Given the description of an element on the screen output the (x, y) to click on. 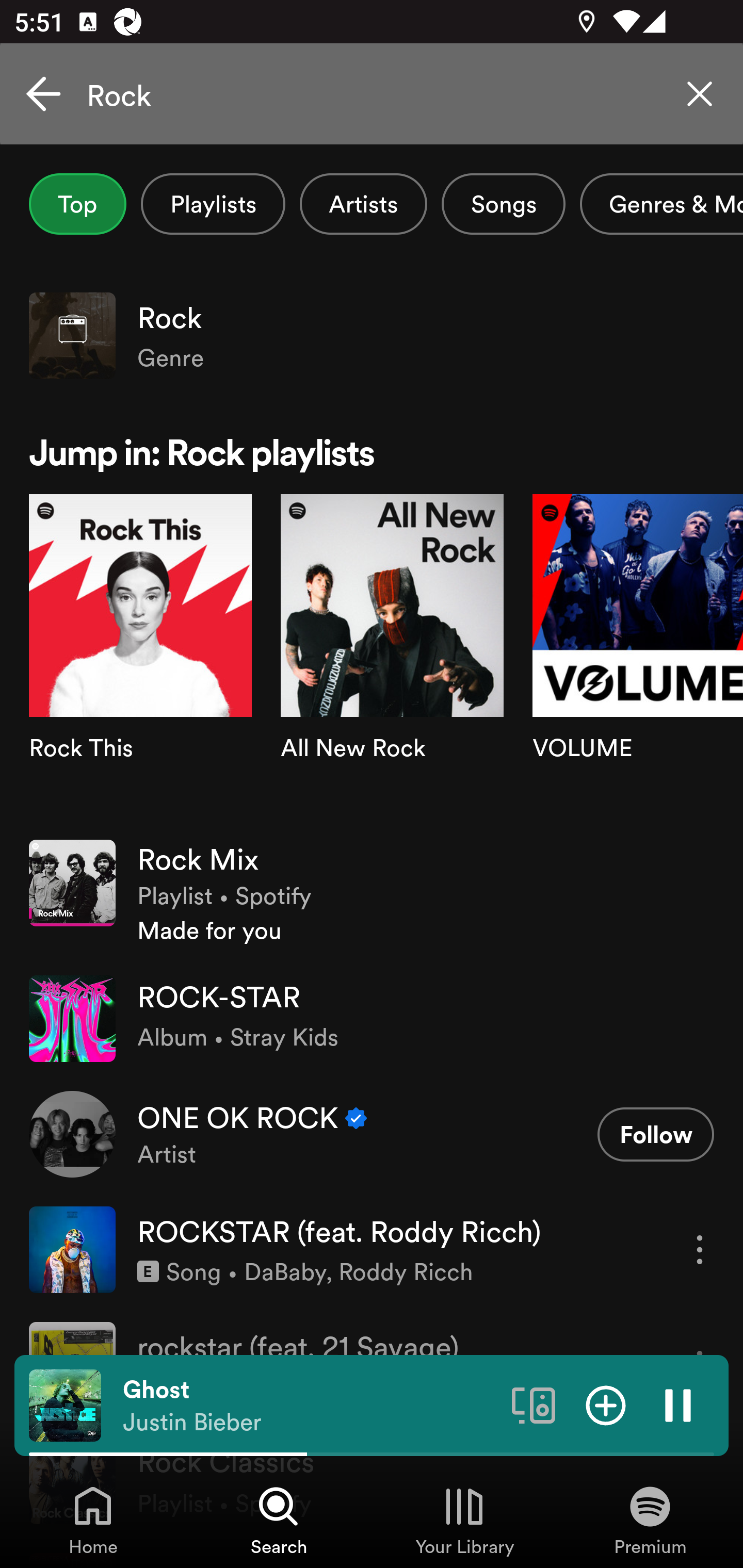
Rock (371, 93)
Cancel (43, 93)
Clear search query (699, 93)
Top (77, 203)
Playlists (213, 203)
Artists (363, 203)
Songs (503, 203)
Genres & Moods (661, 203)
Rock Genre (371, 335)
Search card image Rock This (139, 658)
Search card image All New Rock (391, 658)
Search card image VOLUME (637, 658)
Rock Mix Playlist • Spotify Made for you (371, 892)
ROCK-STAR Album • Stray Kids (371, 1019)
ONE OK ROCK Verified Artist Follow Follow (371, 1134)
Follow (655, 1134)
More options for song ROCKSTAR (feat. Roddy Ricch) (699, 1249)
Ghost Justin Bieber (309, 1405)
The cover art of the currently playing track (64, 1404)
Connect to a device. Opens the devices menu (533, 1404)
Add item (605, 1404)
Pause (677, 1404)
Home, Tab 1 of 4 Home Home (92, 1519)
Search, Tab 2 of 4 Search Search (278, 1519)
Your Library, Tab 3 of 4 Your Library Your Library (464, 1519)
Premium, Tab 4 of 4 Premium Premium (650, 1519)
